Given the description of an element on the screen output the (x, y) to click on. 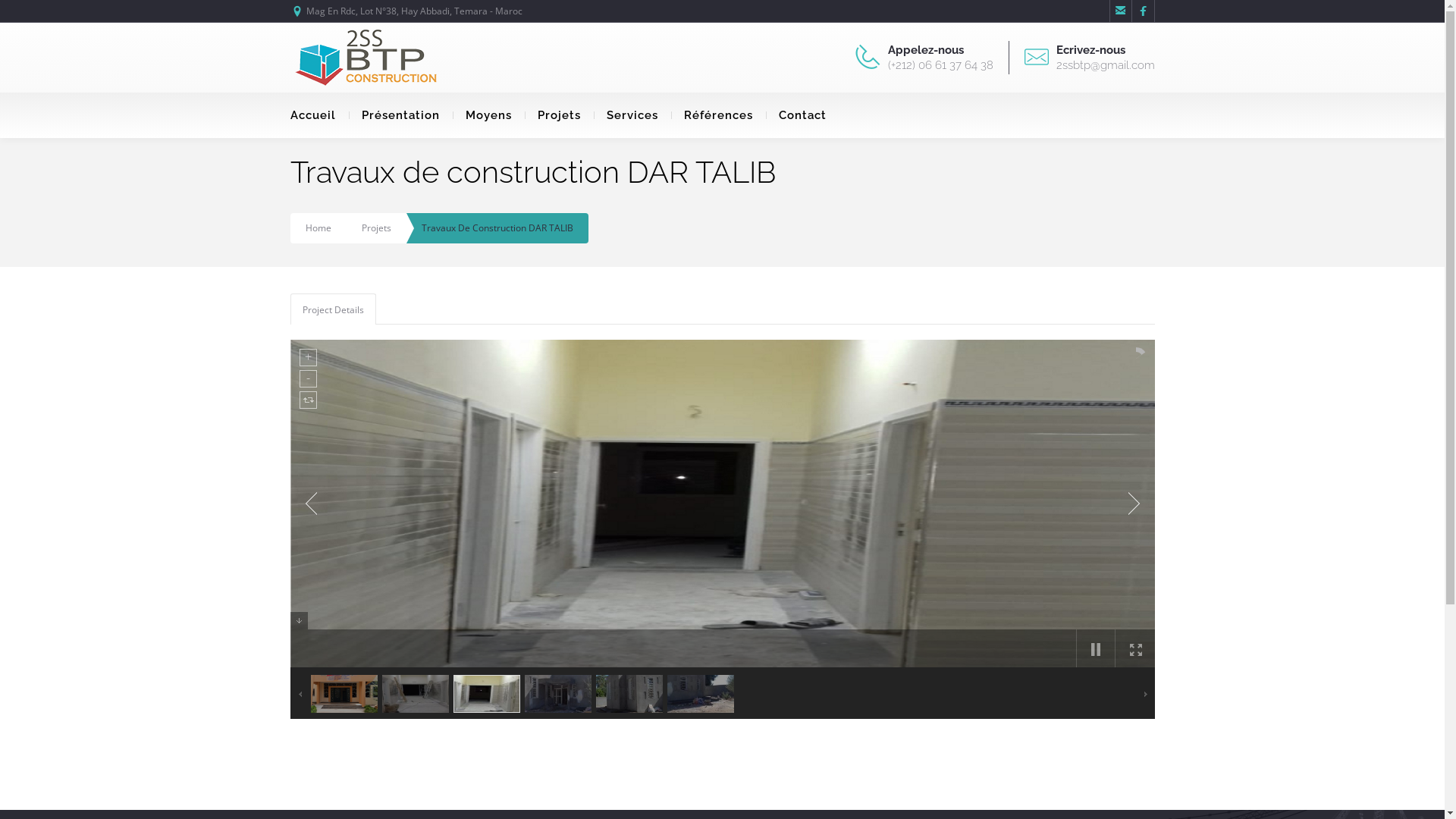
Projets Element type: text (558, 115)
Contact Element type: text (802, 115)
Project Details Element type: text (333, 309)
Accueil Element type: text (318, 115)
Moyens Element type: text (487, 115)
Services Element type: text (631, 115)
Home Element type: text (317, 227)
Projets Element type: text (375, 227)
